Given the description of an element on the screen output the (x, y) to click on. 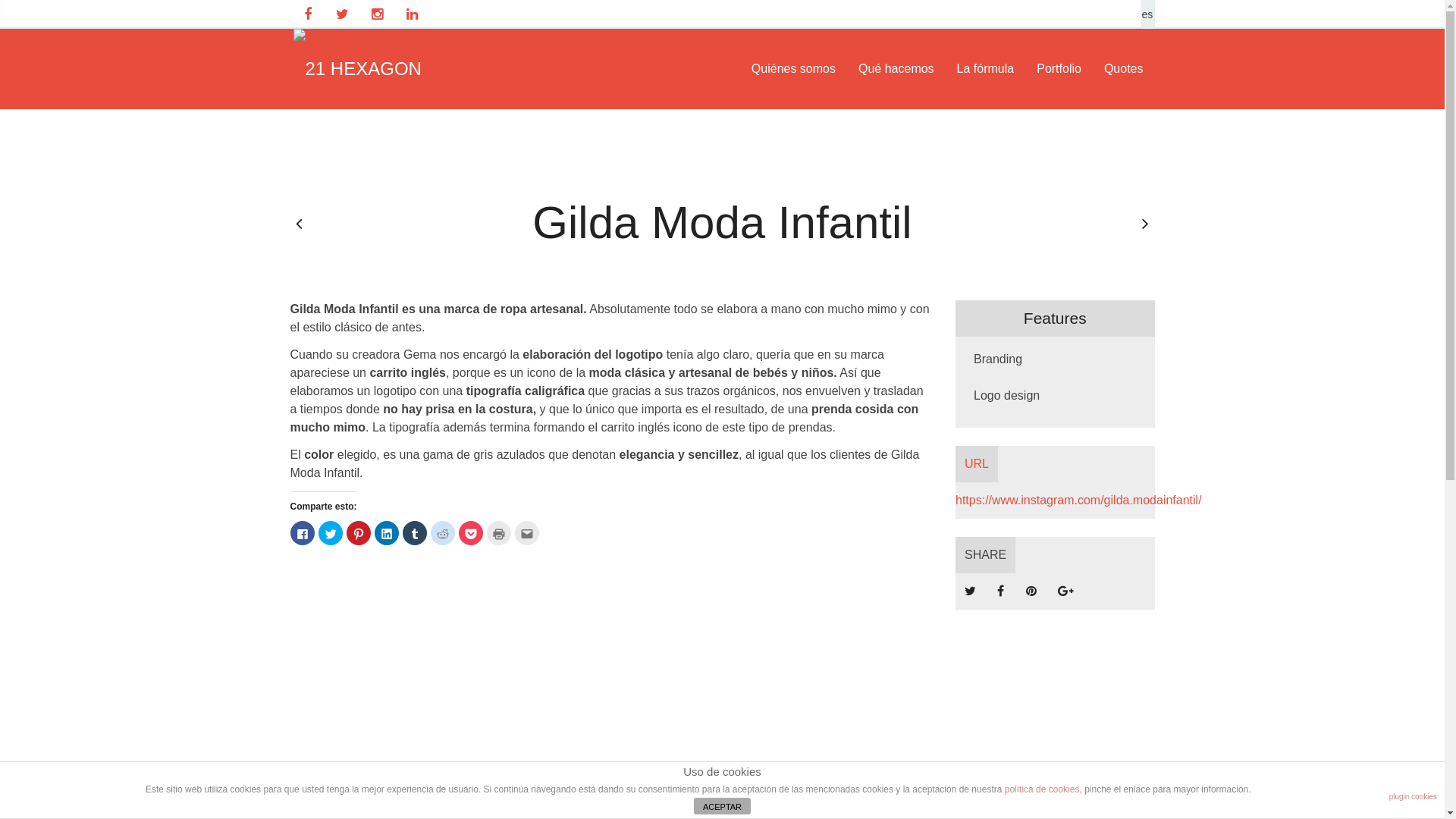
Pin on Pinterest Element type: hover (1031, 590)
Portfolio Element type: text (1058, 68)
plugin cookies Element type: text (1413, 796)
ACEPTAR Element type: text (721, 805)
Quotes Element type: text (1123, 68)
Share on Google+ Element type: hover (1065, 590)
Haz clic para imprimir (Se abre en una ventana nueva) Element type: text (498, 532)
Share on Facebook Element type: hover (1000, 590)
Share on Twitter Element type: hover (969, 590)
URL https://www.instagram.com/gilda.modainfantil/ Element type: text (1054, 481)
